Given the description of an element on the screen output the (x, y) to click on. 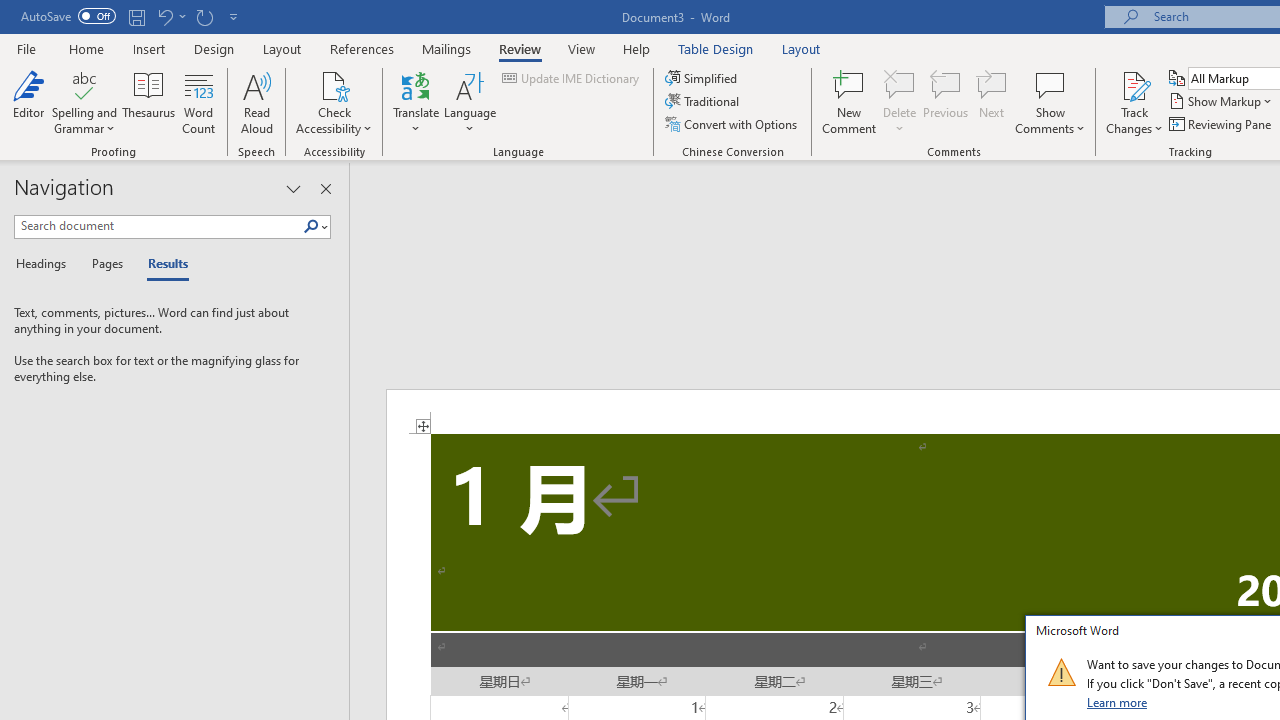
AutoSave (68, 16)
Language (470, 102)
Translate (415, 102)
Layout (801, 48)
Next (991, 102)
Review (520, 48)
Quick Access Toolbar (131, 16)
Delete (900, 84)
Check Accessibility (334, 84)
Repeat Doc Close (204, 15)
Results (161, 264)
